Given the description of an element on the screen output the (x, y) to click on. 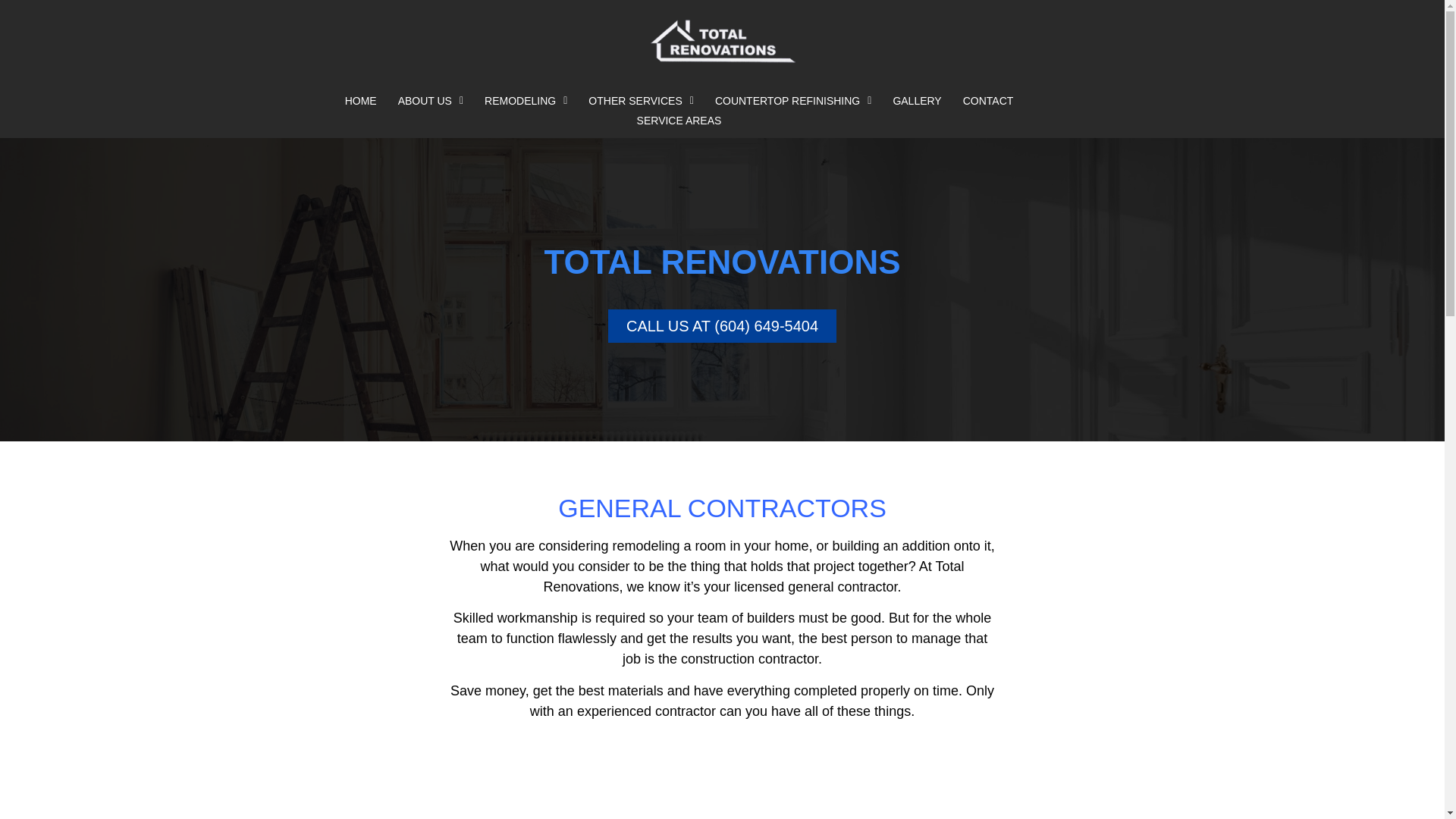
GALLERY (917, 100)
OTHER SERVICES (641, 100)
COUNTERTOP REFINISHING (793, 100)
CONTACT (988, 100)
REMODELING (526, 100)
ABOUT US (430, 100)
SERVICE AREAS (679, 120)
HOME (360, 100)
